Given the description of an element on the screen output the (x, y) to click on. 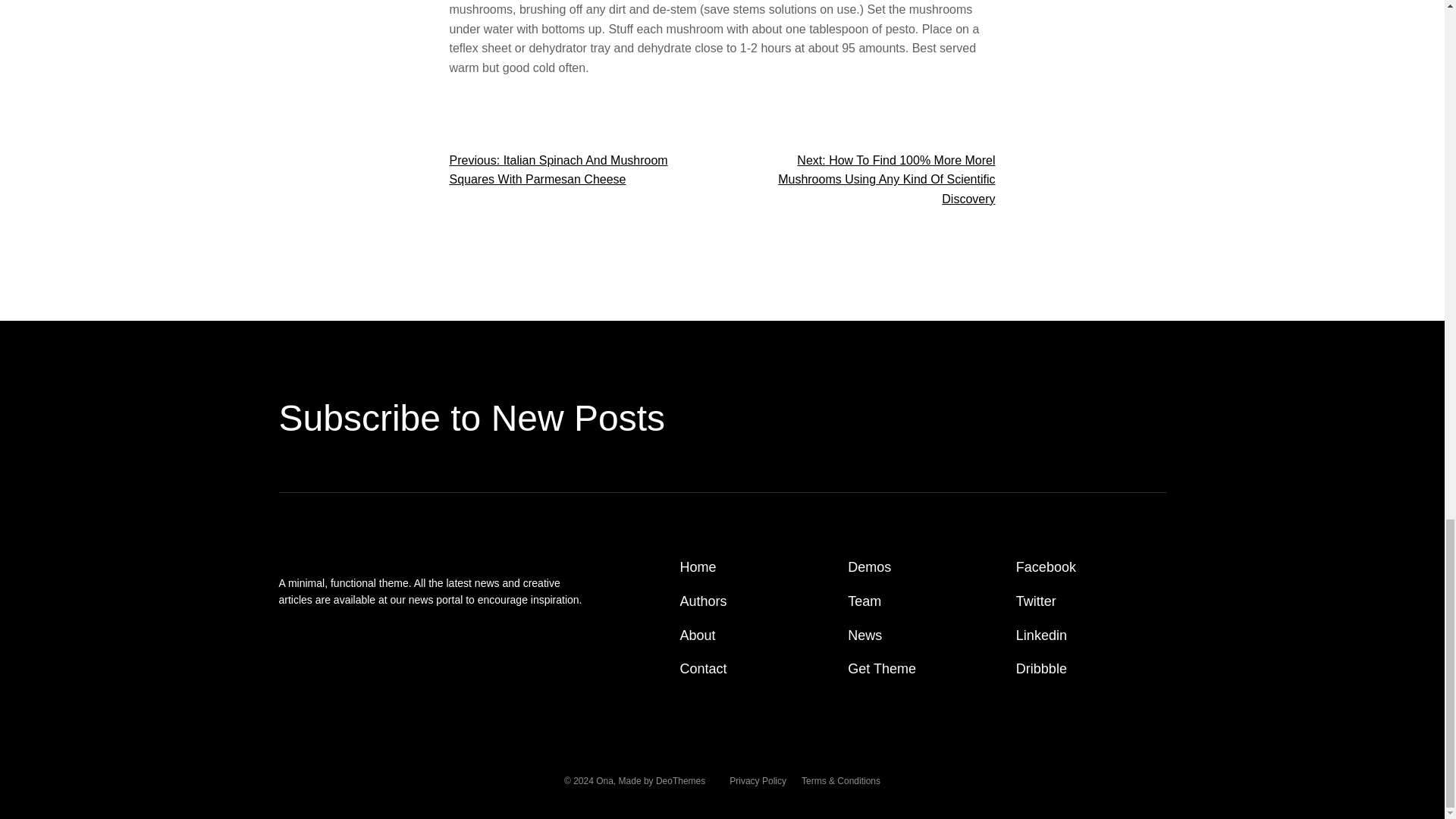
Authors (702, 601)
About (697, 635)
Dribbble (1041, 669)
Linkedin (1041, 635)
Privacy Policy (757, 780)
Team (863, 601)
DeoThemes (680, 780)
Facebook (1045, 567)
Get Theme (881, 669)
Contact (702, 669)
Twitter (1036, 601)
News (864, 635)
Home (697, 567)
Demos (869, 567)
